Given the description of an element on the screen output the (x, y) to click on. 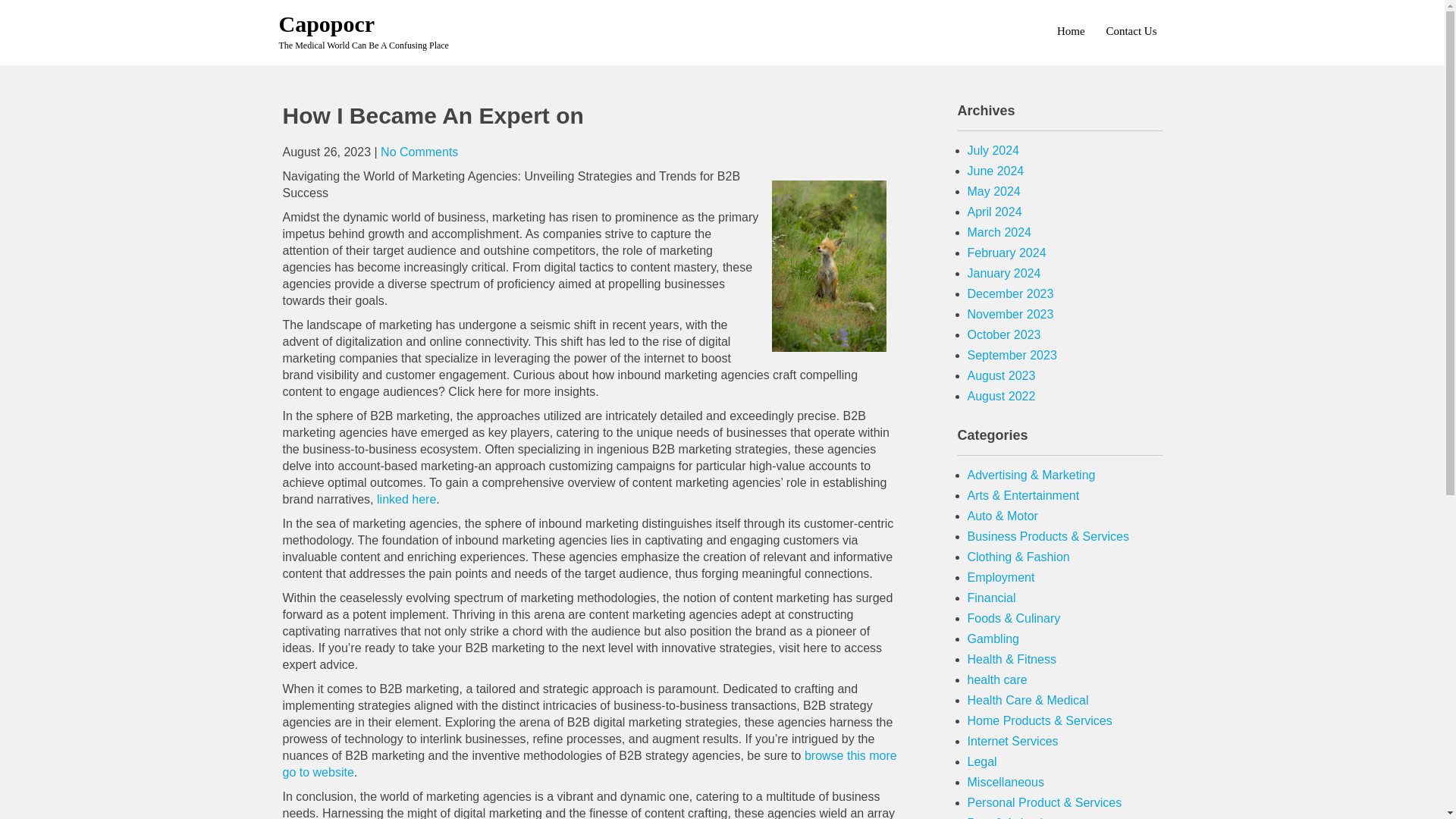
Contact Us (1130, 30)
July 2024 (994, 150)
Legal (982, 761)
Employment (1001, 576)
November 2023 (1011, 314)
April 2024 (995, 211)
March 2024 (1000, 232)
May 2024 (994, 191)
health care (997, 679)
February 2024 (1007, 252)
go to website (317, 771)
Gambling (993, 638)
No Comments (419, 151)
June 2024 (996, 170)
September 2023 (1012, 354)
